Given the description of an element on the screen output the (x, y) to click on. 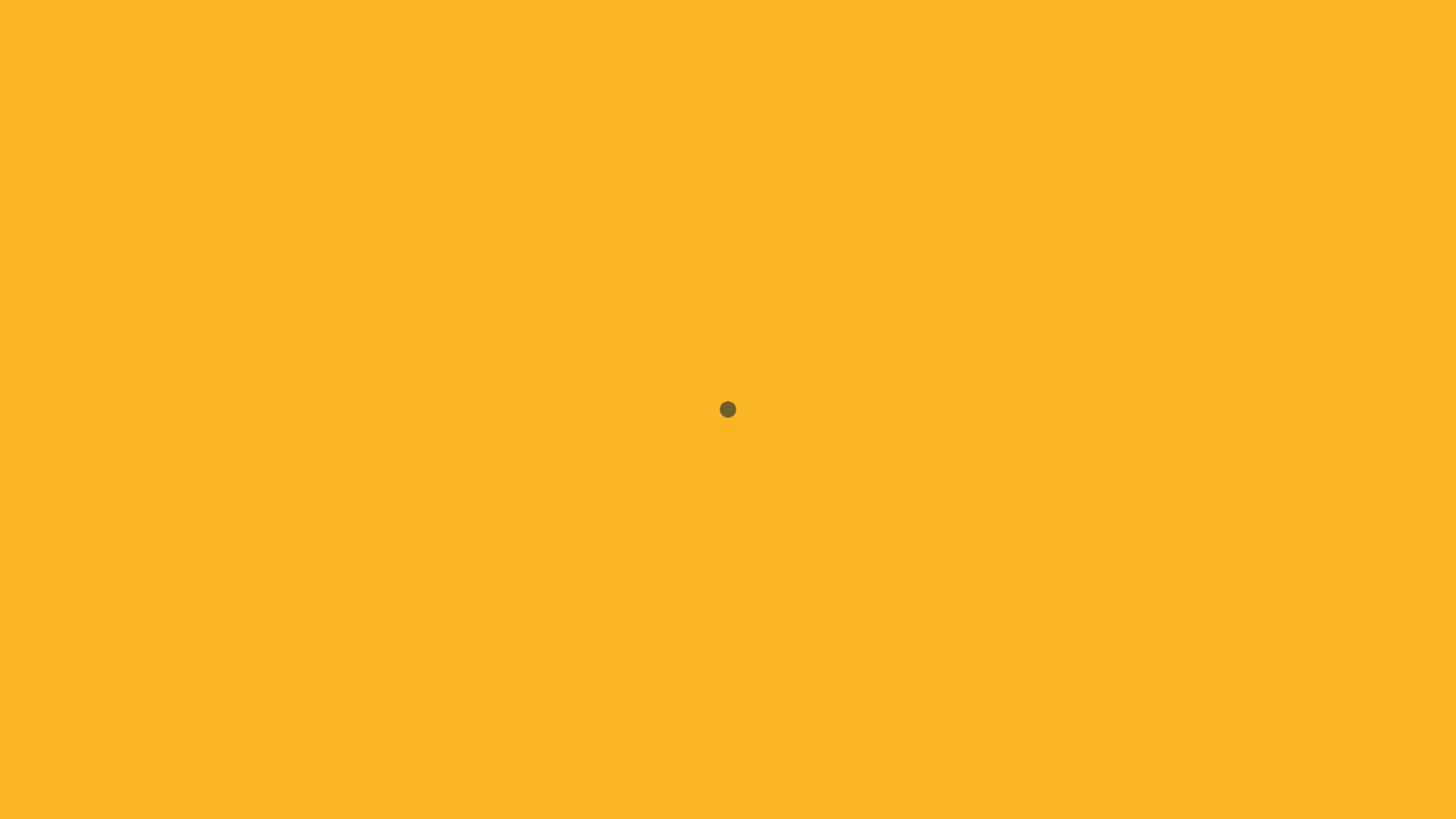
Portrait Element type: text (720, 87)
Burgweg 20, 8852 Altendorf Element type: hover (943, 350)
Kontakt Element type: text (941, 87)
Arbeiten Element type: text (787, 87)
Home Element type: text (659, 87)
Referenzen Element type: text (865, 87)
